Given the description of an element on the screen output the (x, y) to click on. 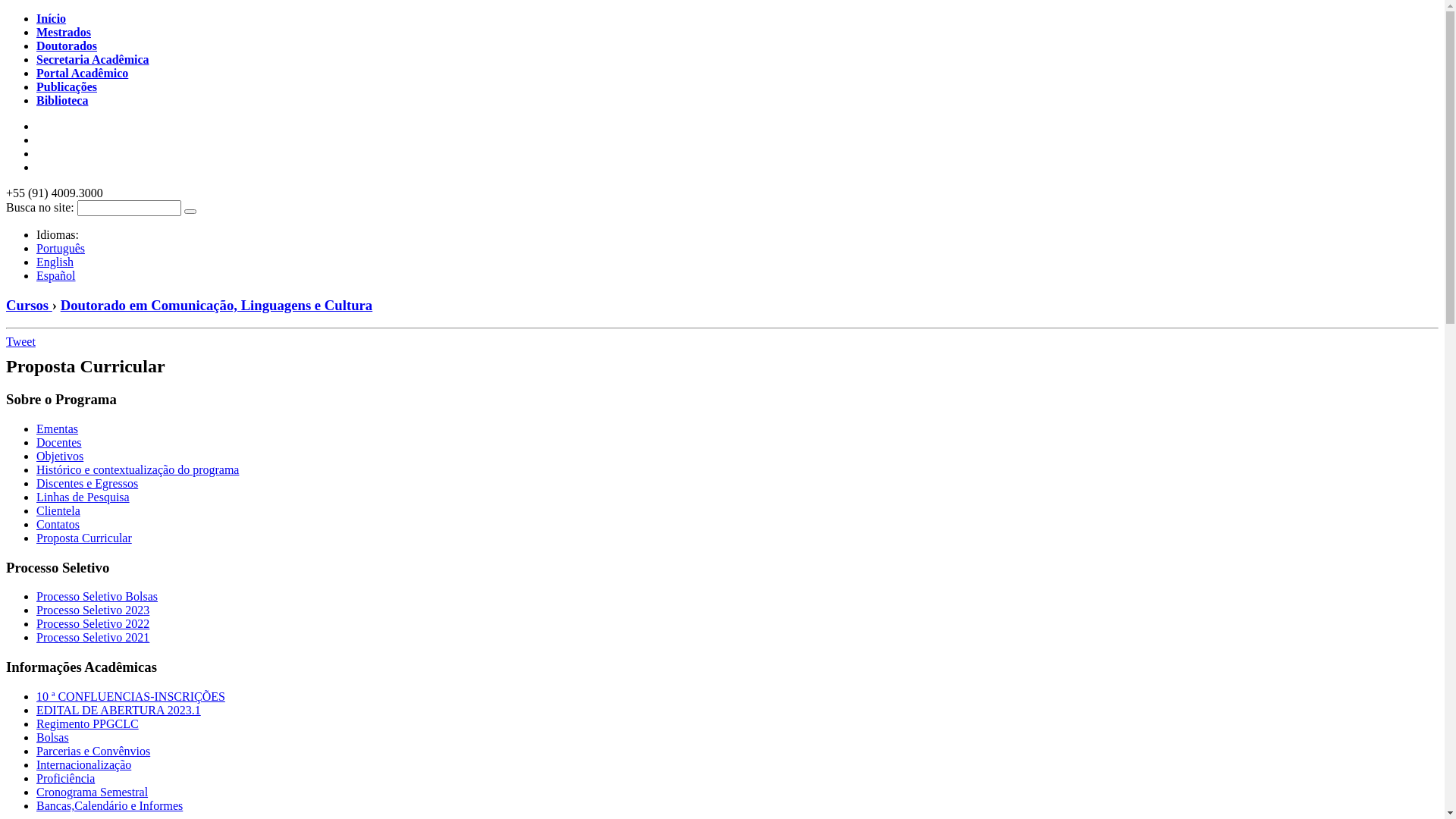
Processo Seletivo 2022 Element type: text (92, 623)
Processo Seletivo 2021 Element type: text (92, 636)
English Element type: text (54, 261)
Processo Seletivo Bolsas Element type: text (96, 595)
Bolsas Element type: text (52, 737)
EDITAL DE ABERTURA 2023.1 Element type: text (118, 709)
Docentes Element type: text (58, 442)
Linhas de Pesquisa Element type: text (82, 496)
Processo Seletivo 2023 Element type: text (92, 609)
Biblioteca Element type: text (61, 100)
Cursos Element type: text (29, 305)
Clientela Element type: text (58, 510)
Mestrados Element type: text (63, 31)
Doutorados Element type: text (66, 45)
Ementas Element type: text (57, 428)
Discentes e Egressos Element type: text (87, 482)
Tweet Element type: text (20, 341)
Contatos Element type: text (57, 523)
Regimento PPGCLC Element type: text (87, 723)
Proposta Curricular Element type: text (83, 537)
Cronograma Semestral Element type: text (91, 791)
Objetivos Element type: text (59, 455)
